Given the description of an element on the screen output the (x, y) to click on. 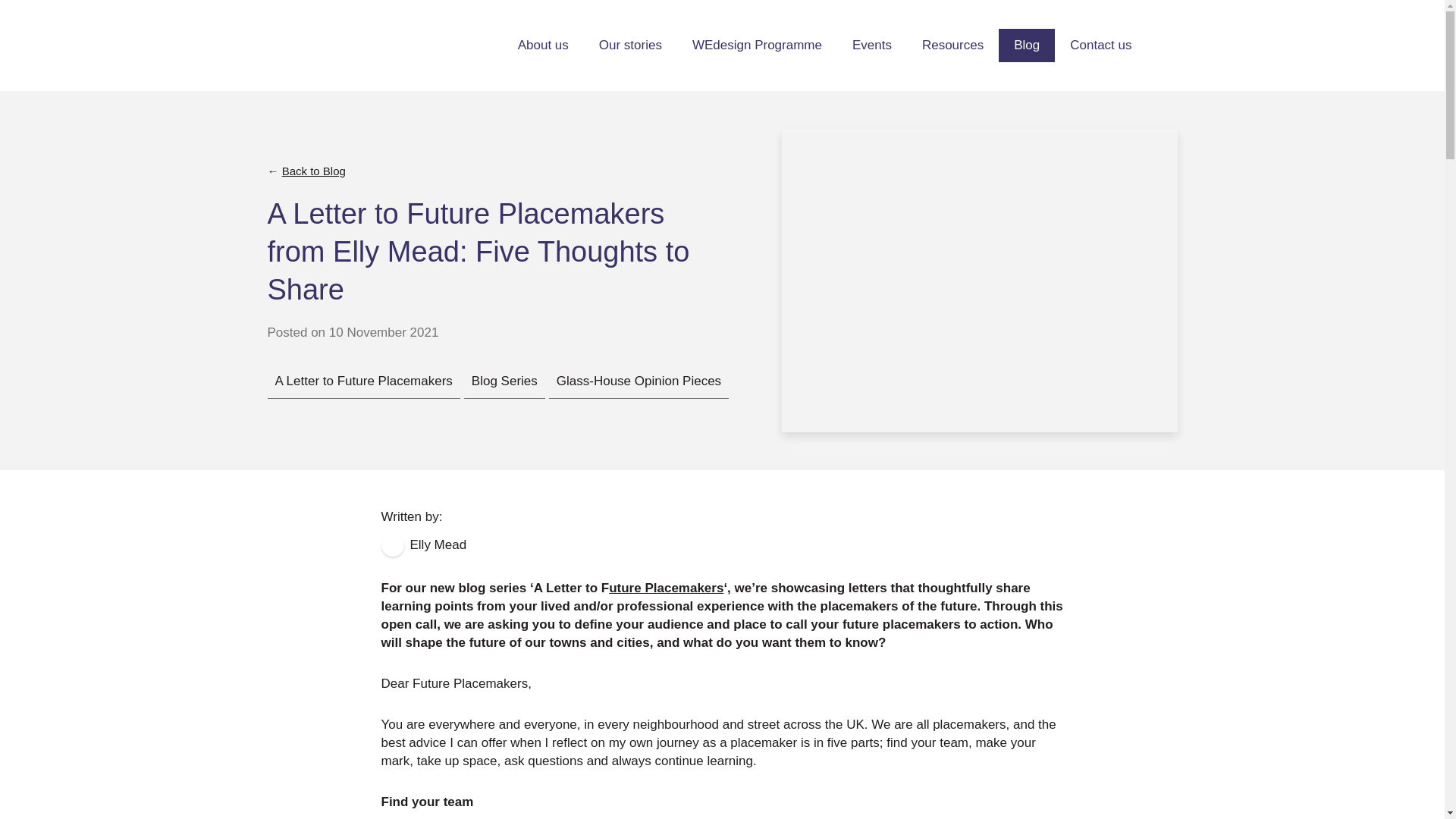
Contact us (1100, 45)
View posts in Blog Series (504, 381)
Events (872, 45)
Resources (952, 45)
Our stories (630, 45)
About us (542, 45)
View posts in A Letter to Future Placemakers (363, 381)
View posts in Glass-House Opinion Pieces (638, 381)
Go back to The Glass-House homepage (325, 45)
WEdesign Programme (757, 45)
